Given the description of an element on the screen output the (x, y) to click on. 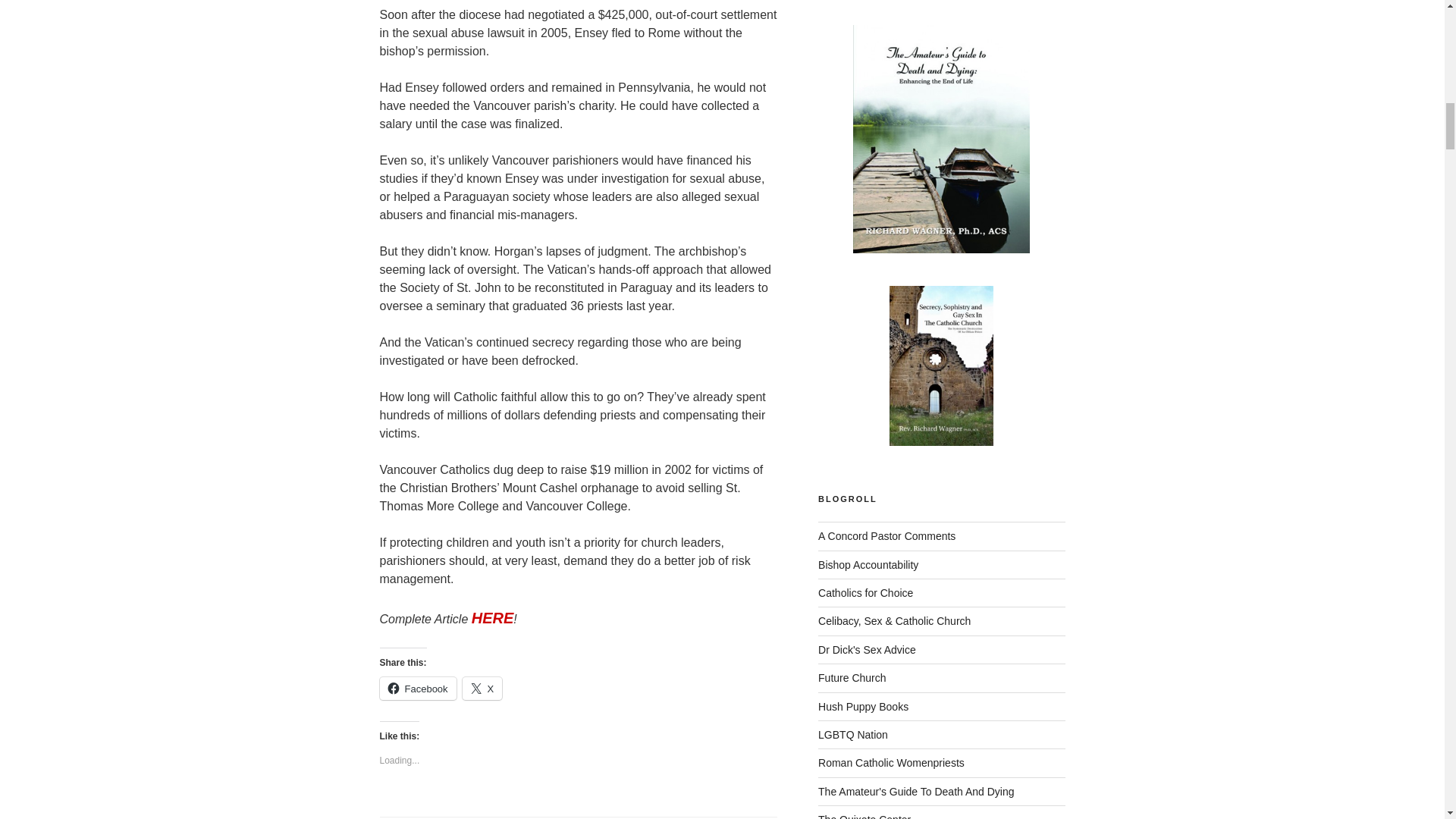
Click to share on X (482, 688)
Bishop Accountability (868, 564)
Hush Puppy Books (863, 706)
Click to share on Facebook (416, 688)
X (482, 688)
Facebook (416, 688)
Catholics for Choice (865, 592)
Future Church (851, 677)
A Concord Pastor Comments (886, 535)
Dr Dick's Sex Advice (866, 649)
